Given the description of an element on the screen output the (x, y) to click on. 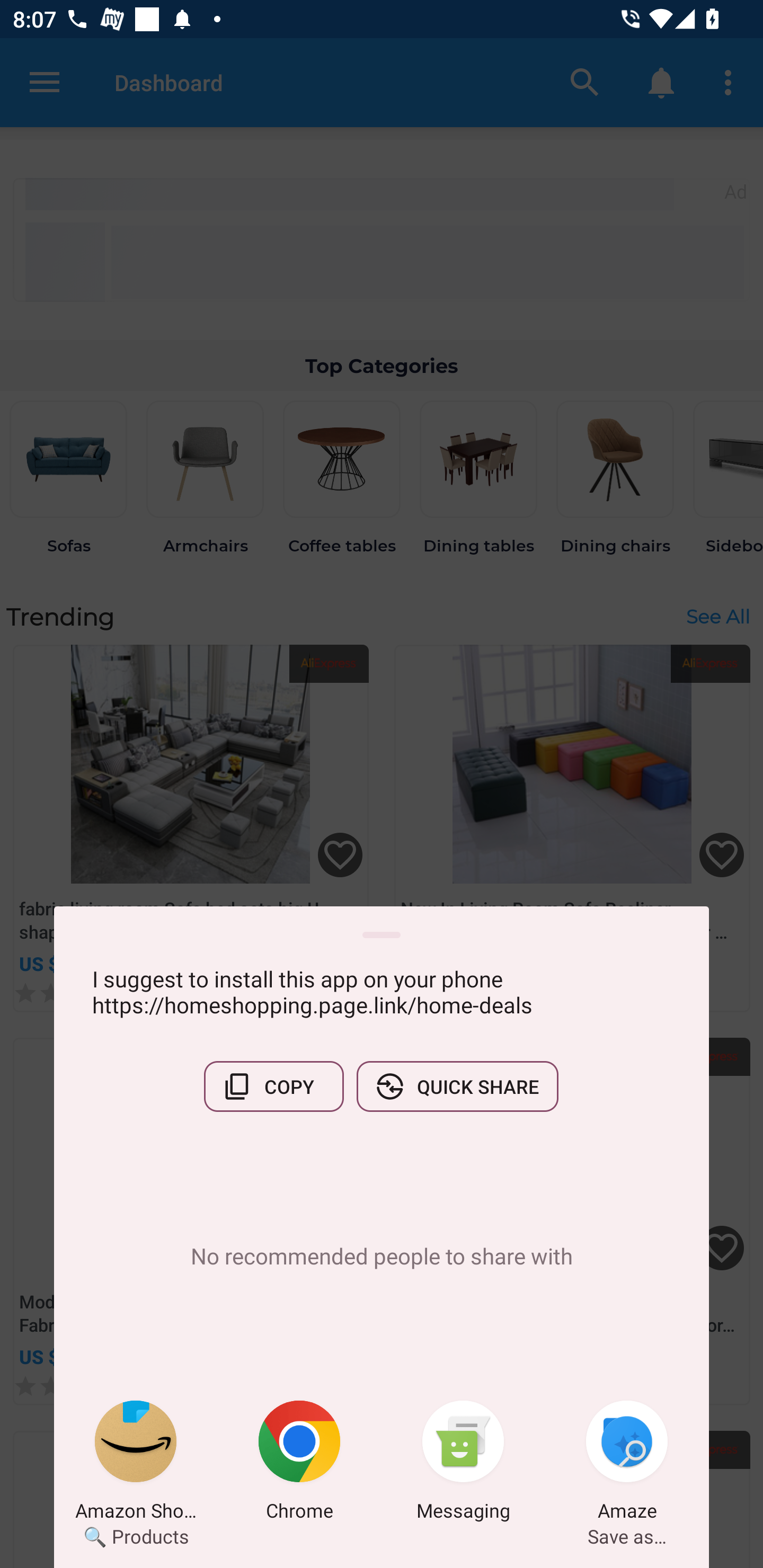
COPY (273, 1086)
QUICK SHARE (457, 1086)
Amazon Shopping 🔍 Products (135, 1463)
Chrome (299, 1463)
Messaging (463, 1463)
Amaze Save as… (626, 1463)
